Given the description of an element on the screen output the (x, y) to click on. 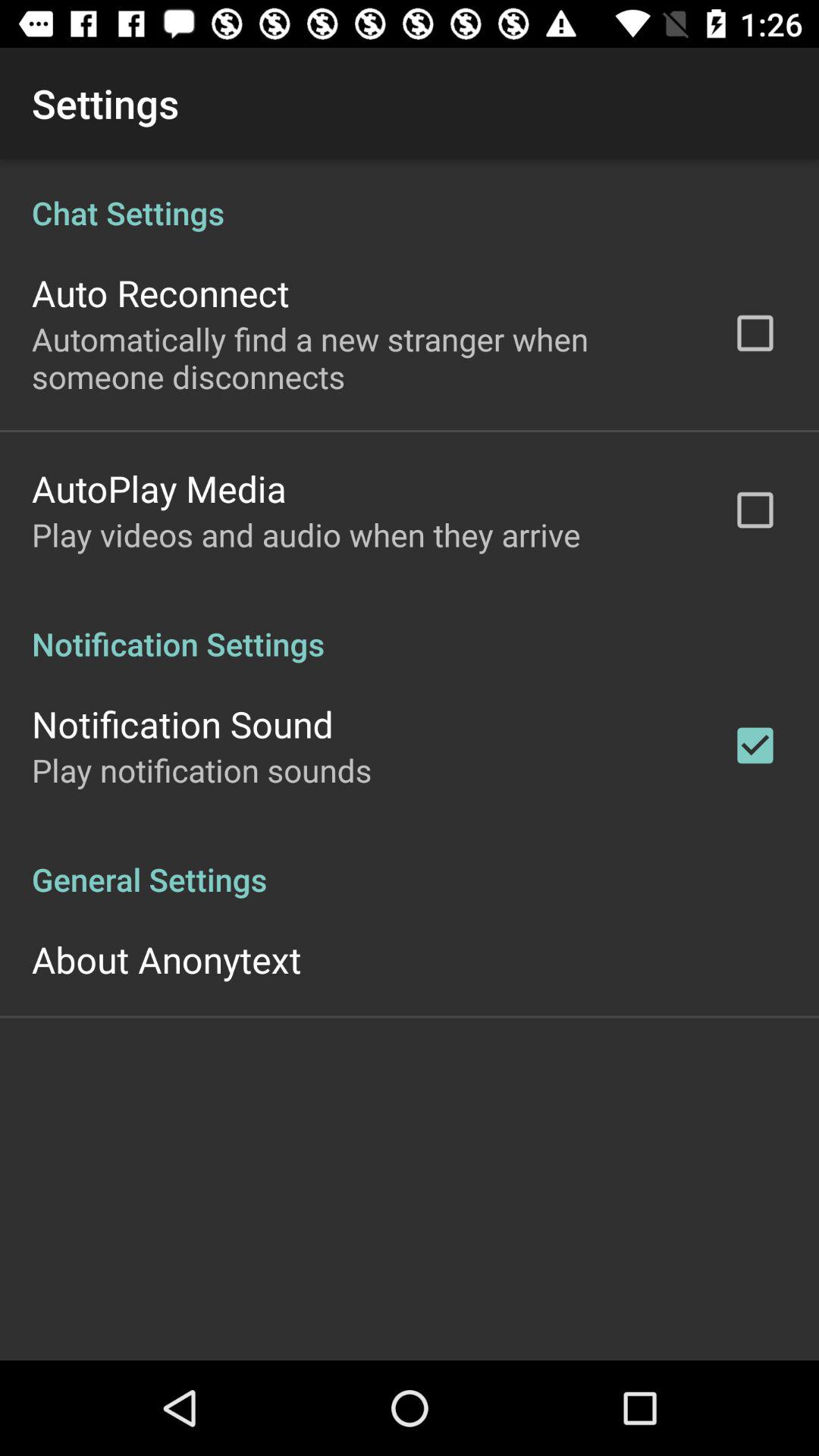
launch auto reconnect item (160, 292)
